Given the description of an element on the screen output the (x, y) to click on. 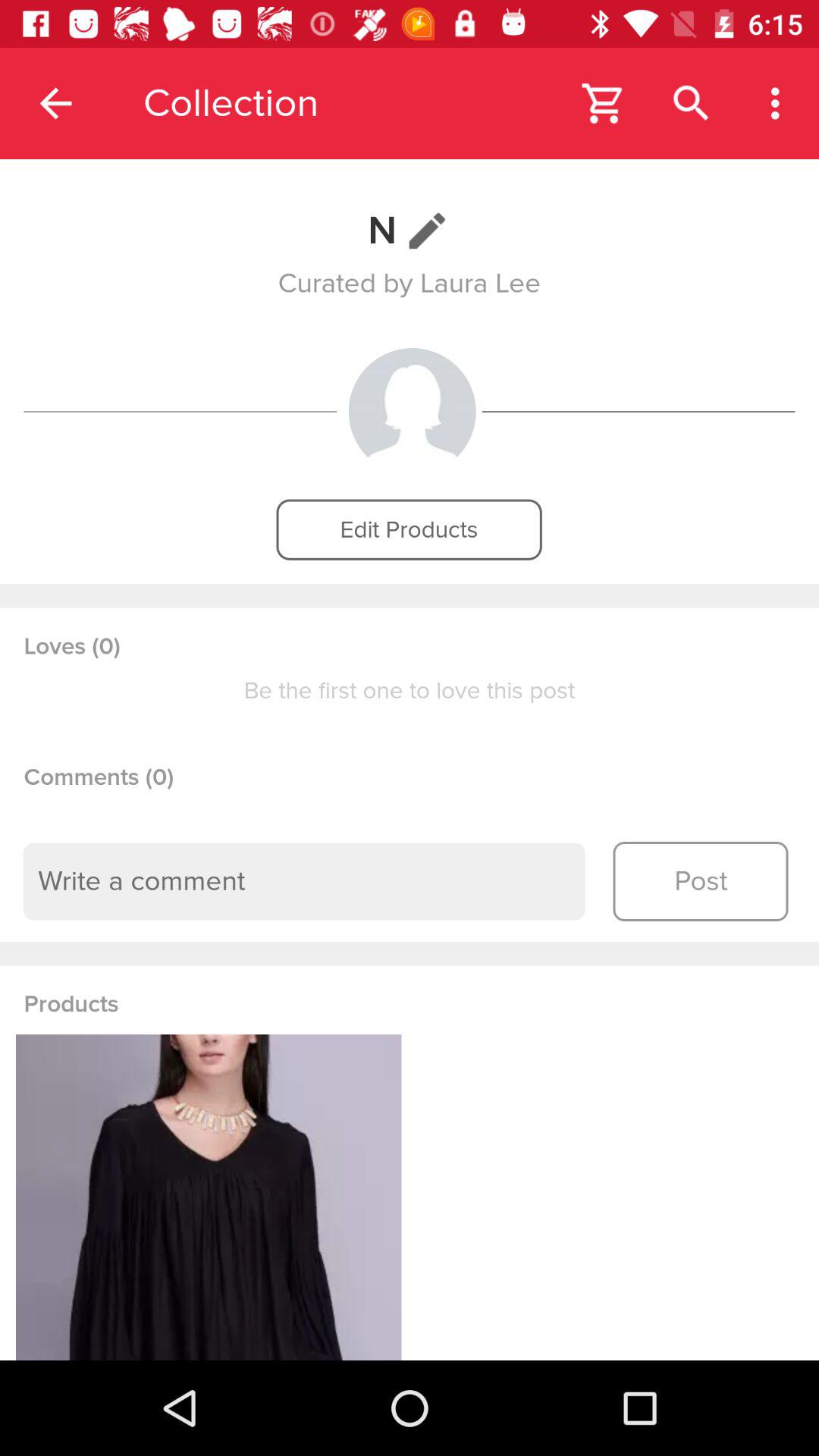
choose n item (409, 230)
